Given the description of an element on the screen output the (x, y) to click on. 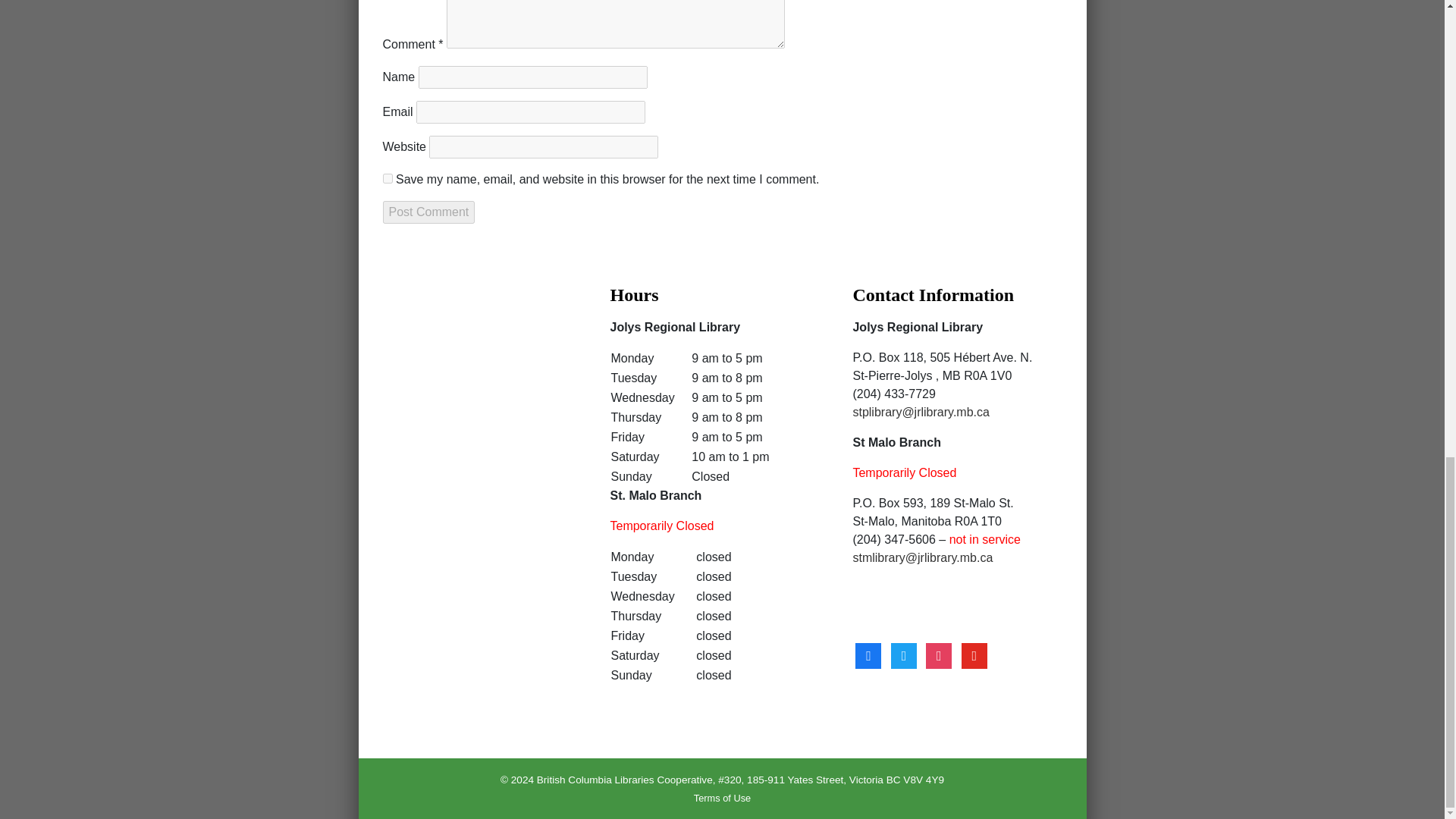
Google Maps (478, 385)
Facebook (868, 654)
Instagram (939, 654)
Terms of Use (722, 797)
Twitter (904, 654)
yes (386, 178)
Default Label (973, 654)
Post Comment (427, 211)
